Given the description of an element on the screen output the (x, y) to click on. 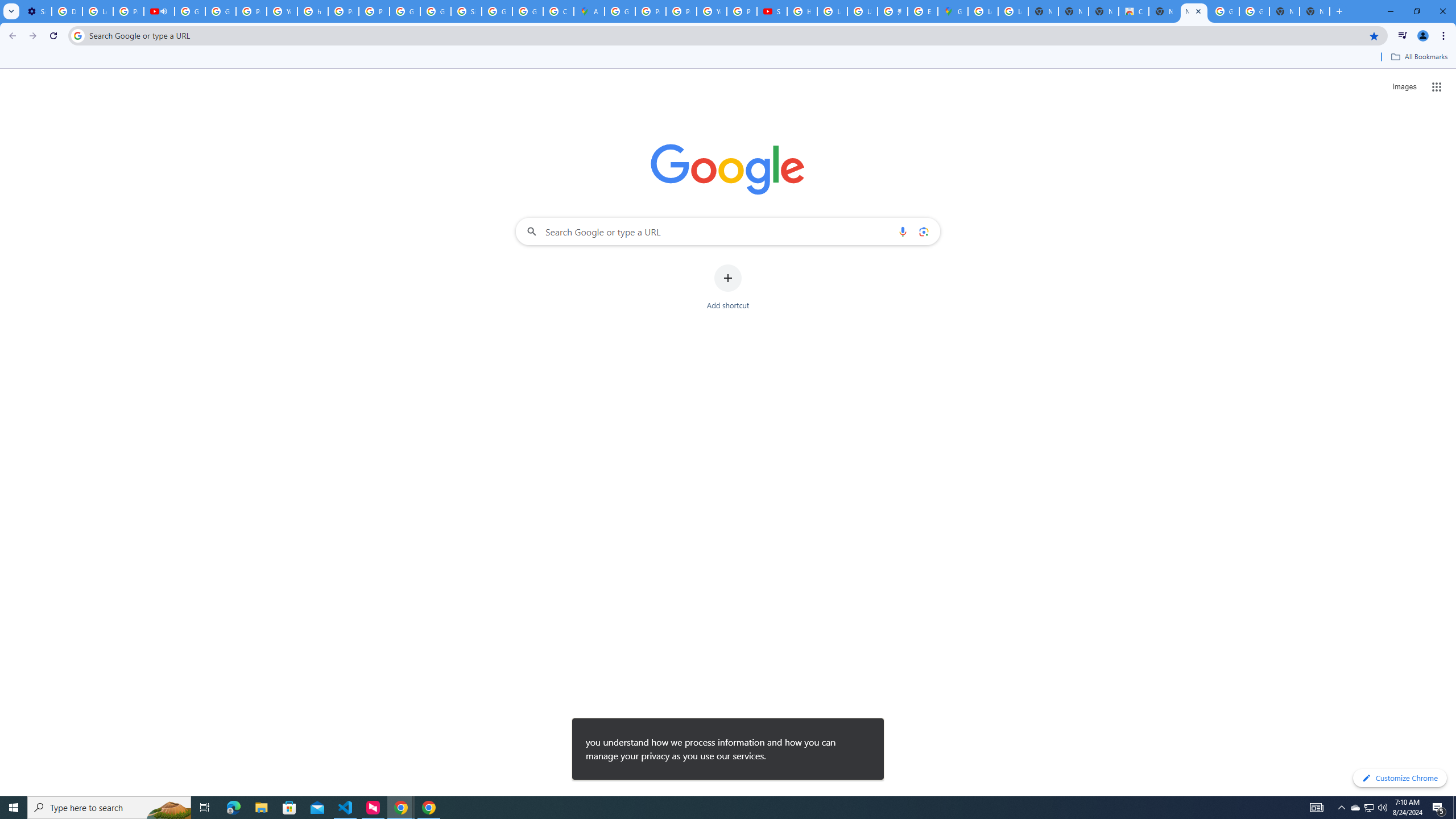
https://scholar.google.com/ (312, 11)
Settings - Performance (36, 11)
Privacy Help Center - Policies Help (343, 11)
Subscriptions - YouTube (771, 11)
Privacy Help Center - Policies Help (681, 11)
